Given the description of an element on the screen output the (x, y) to click on. 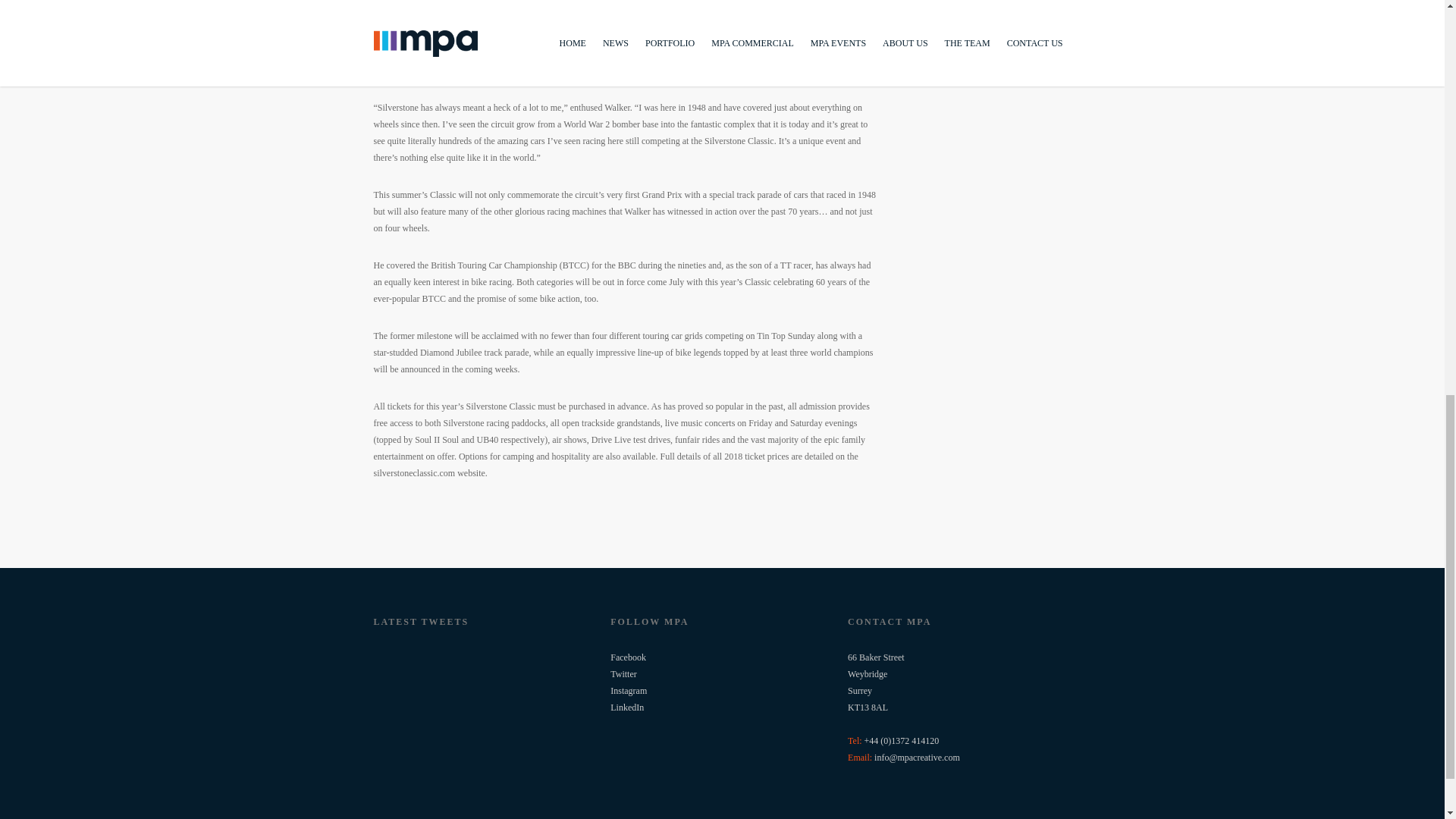
Twitter (623, 674)
Instagram (628, 690)
LinkedIn (626, 706)
Facebook (628, 656)
